Given the description of an element on the screen output the (x, y) to click on. 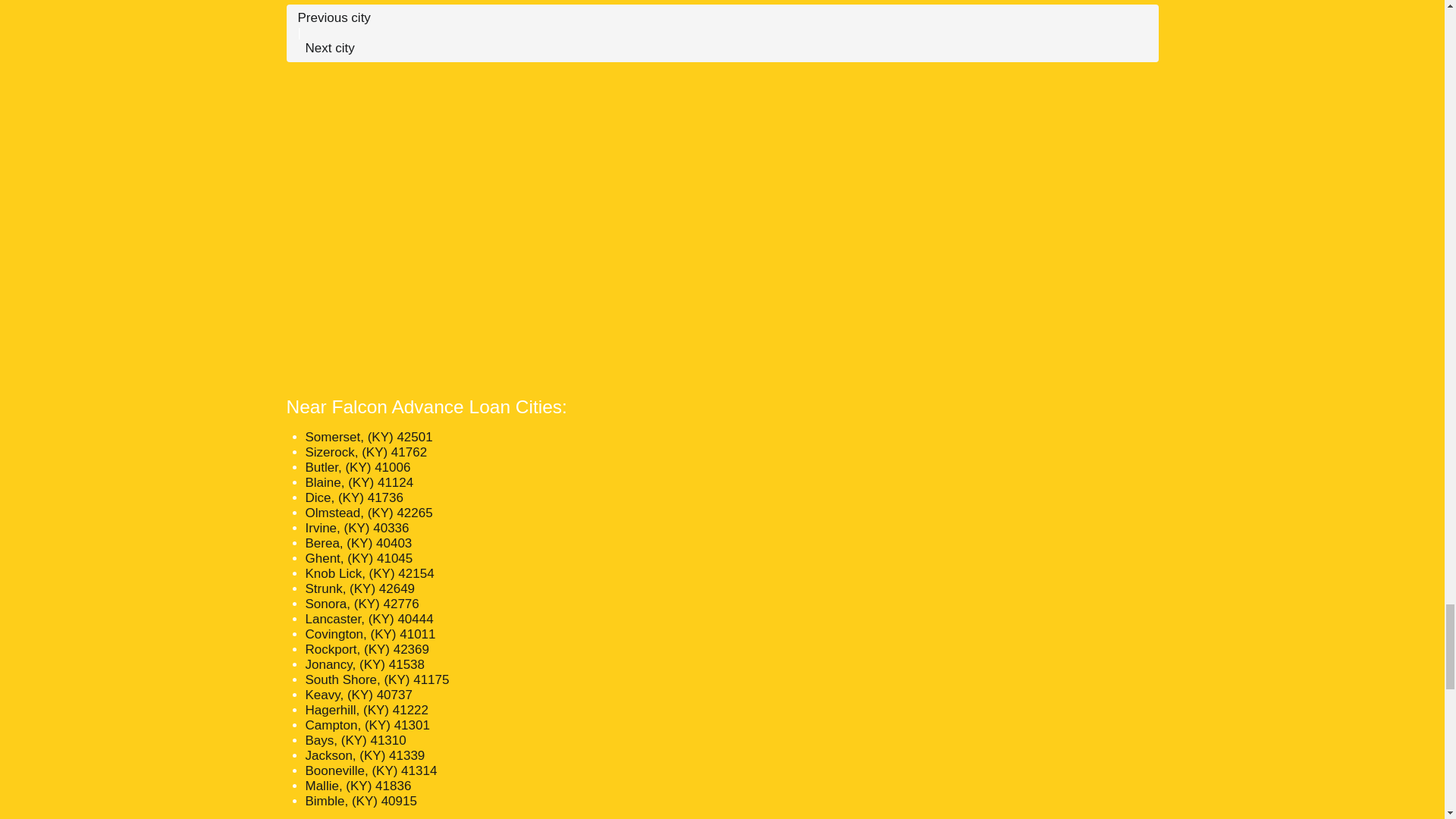
Payday loans in Jonancy (364, 664)
Payday loans in Berea (358, 543)
Ezel (333, 17)
Payday loans in Olmstead (368, 513)
Payday loans in Covington (369, 634)
Payday loans in Keavy (358, 694)
Next city (328, 47)
Payday loans in Somerset (368, 436)
Payday loans in Ghent (358, 558)
Payday loans in Dice (353, 497)
